Given the description of an element on the screen output the (x, y) to click on. 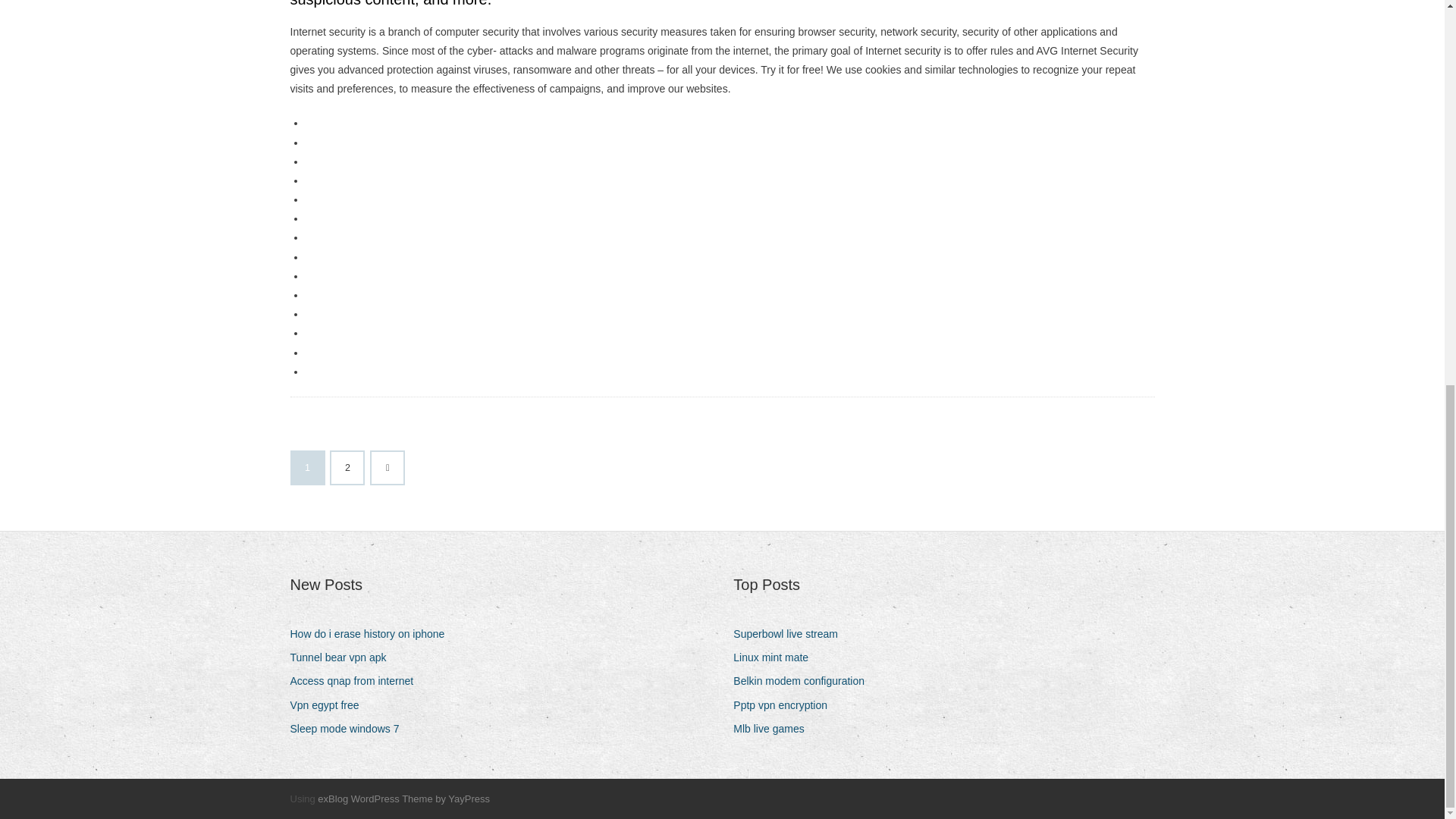
2 (346, 468)
Sleep mode windows 7 (349, 729)
Vpn egypt free (329, 705)
Pptp vpn encryption (785, 705)
Access qnap from internet (357, 680)
exBlog WordPress Theme by YayPress (403, 798)
Superbowl live stream (790, 634)
Mlb live games (774, 729)
Belkin modem configuration (804, 680)
Linux mint mate (776, 657)
